Given the description of an element on the screen output the (x, y) to click on. 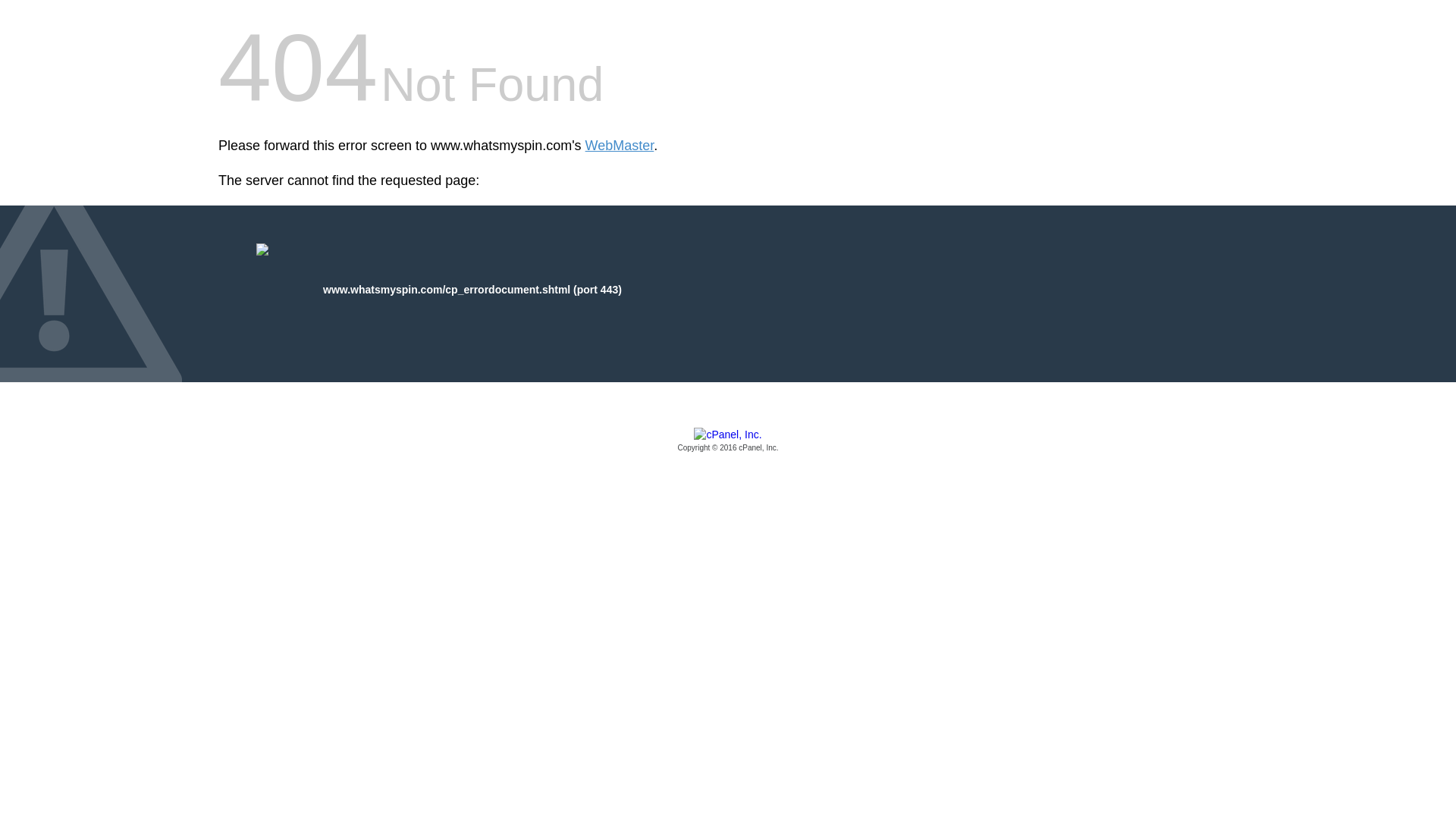
cPanel, Inc. (727, 440)
WebMaster (619, 145)
